Given the description of an element on the screen output the (x, y) to click on. 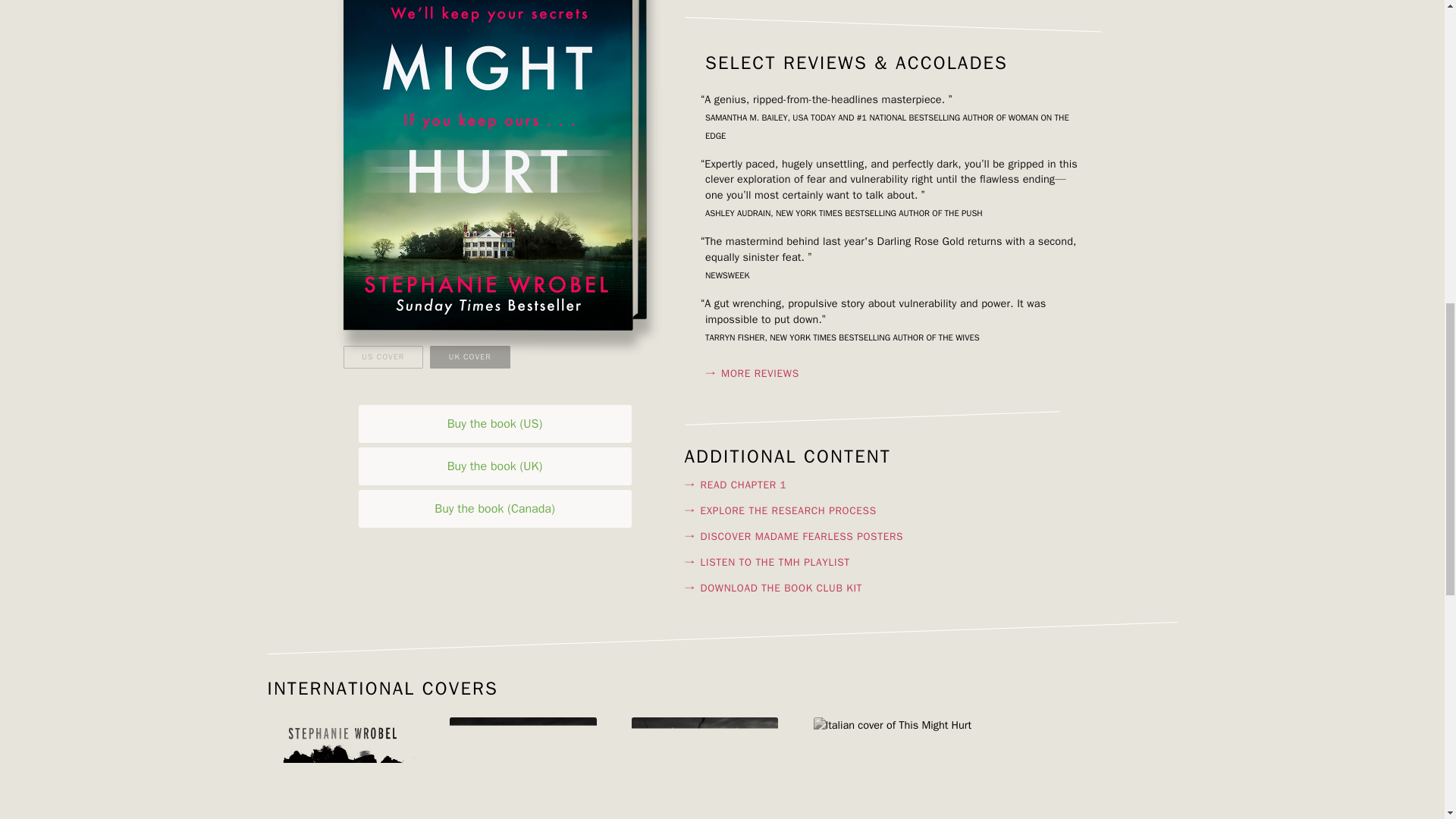
DOWNLOAD THE BOOK CLUB KIT (871, 588)
Discover Madame Fearless posters (871, 536)
MORE REVIEWS (892, 373)
LISTEN TO THE TMH PLAYLIST (871, 562)
Read Chapter 1 (871, 484)
EXPLORE THE RESEARCH PROCESS (871, 510)
Listen to the TMH playlist (871, 562)
Download The Book Club Kit (871, 588)
DISCOVER MADAME FEARLESS POSTERS (871, 536)
Explore the research process (871, 510)
